Given the description of an element on the screen output the (x, y) to click on. 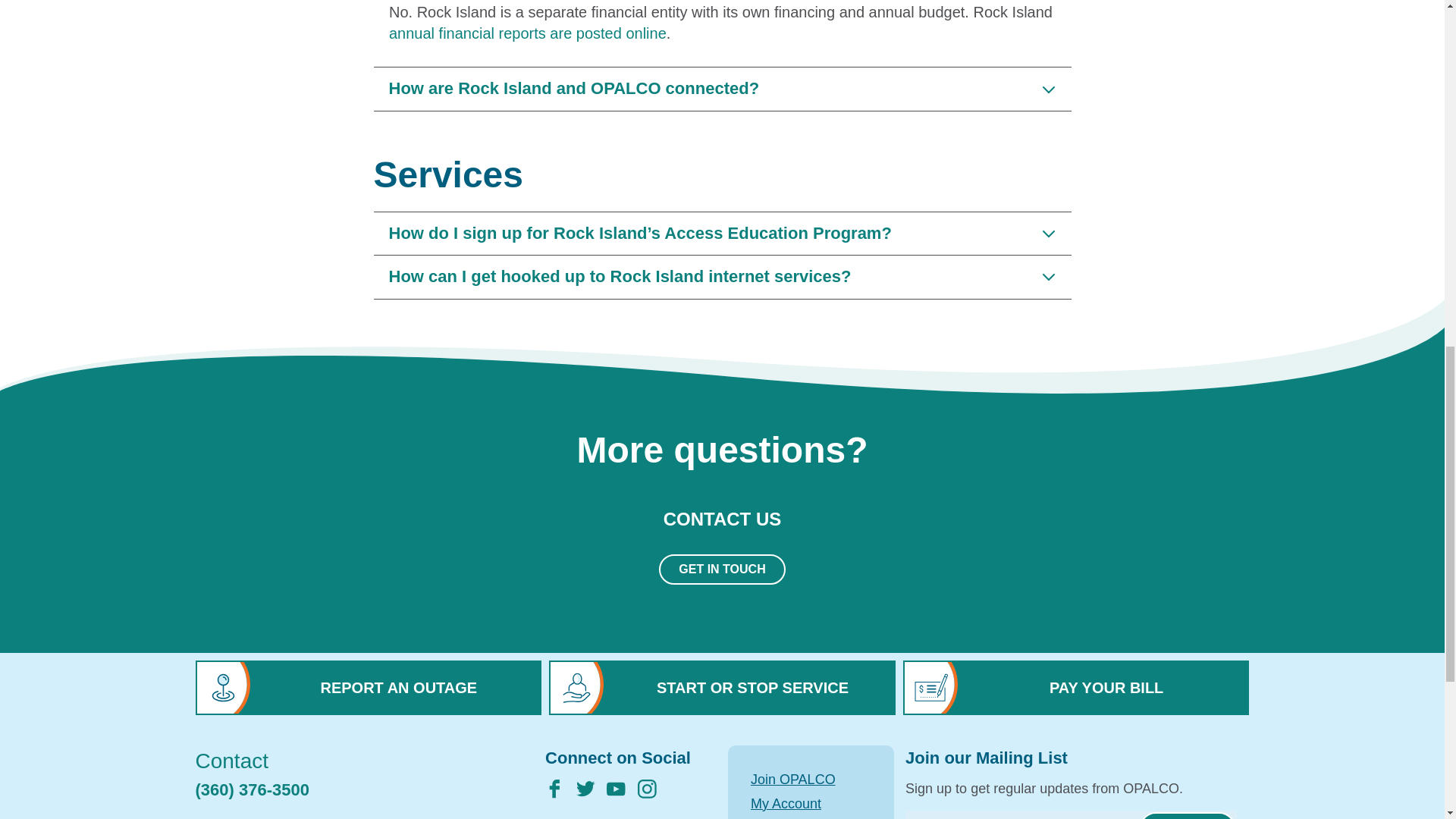
Sign up (1187, 815)
